Given the description of an element on the screen output the (x, y) to click on. 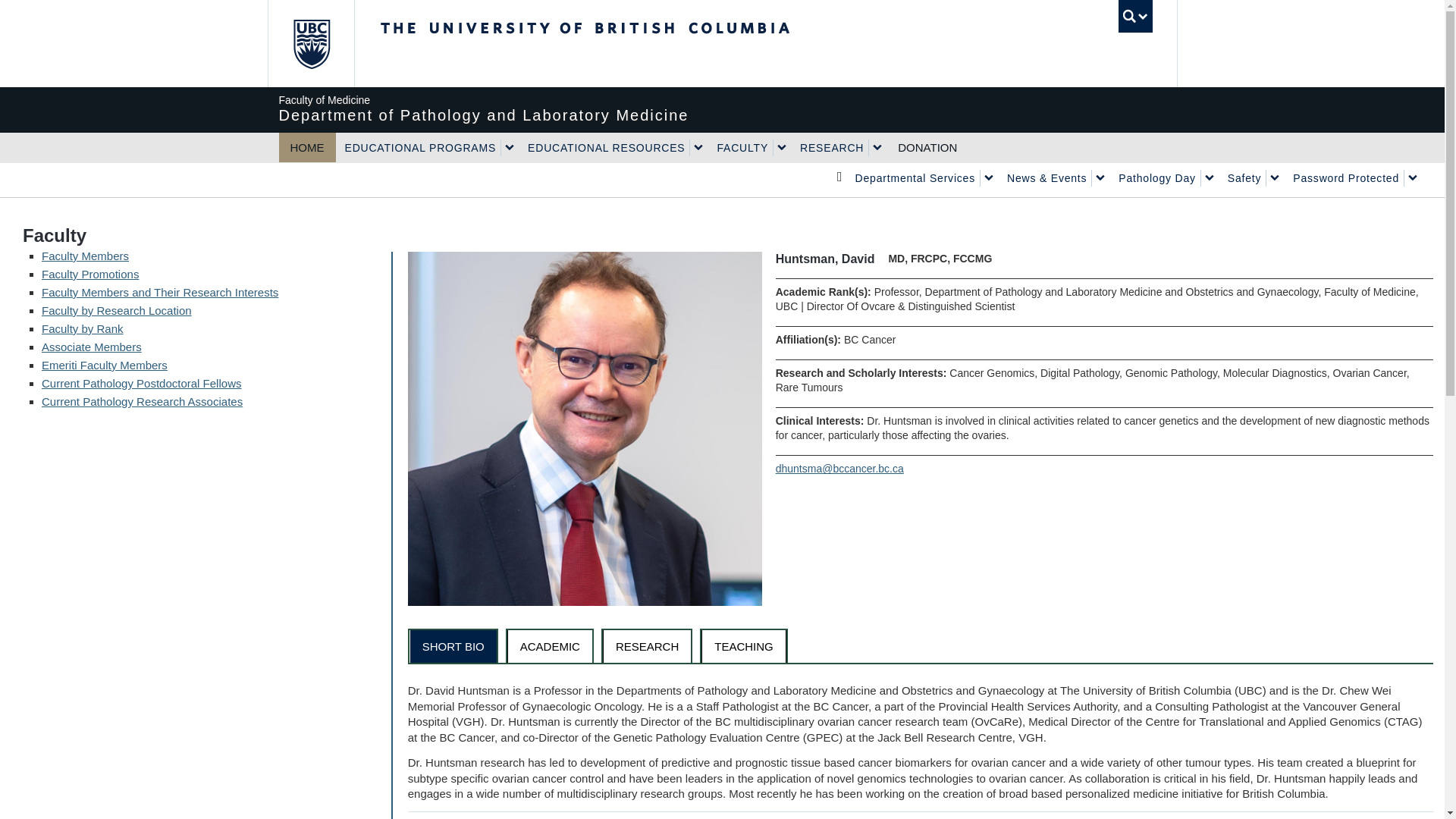
The University of British Columbia (635, 43)
EDUCATIONAL PROGRAMS (417, 147)
UBC Search (1135, 16)
The University of British Columbia (309, 43)
HOME (307, 147)
EDUCATIONAL RESOURCES (604, 147)
Department of Pathology and Laboratory Medicine (722, 108)
